Given the description of an element on the screen output the (x, y) to click on. 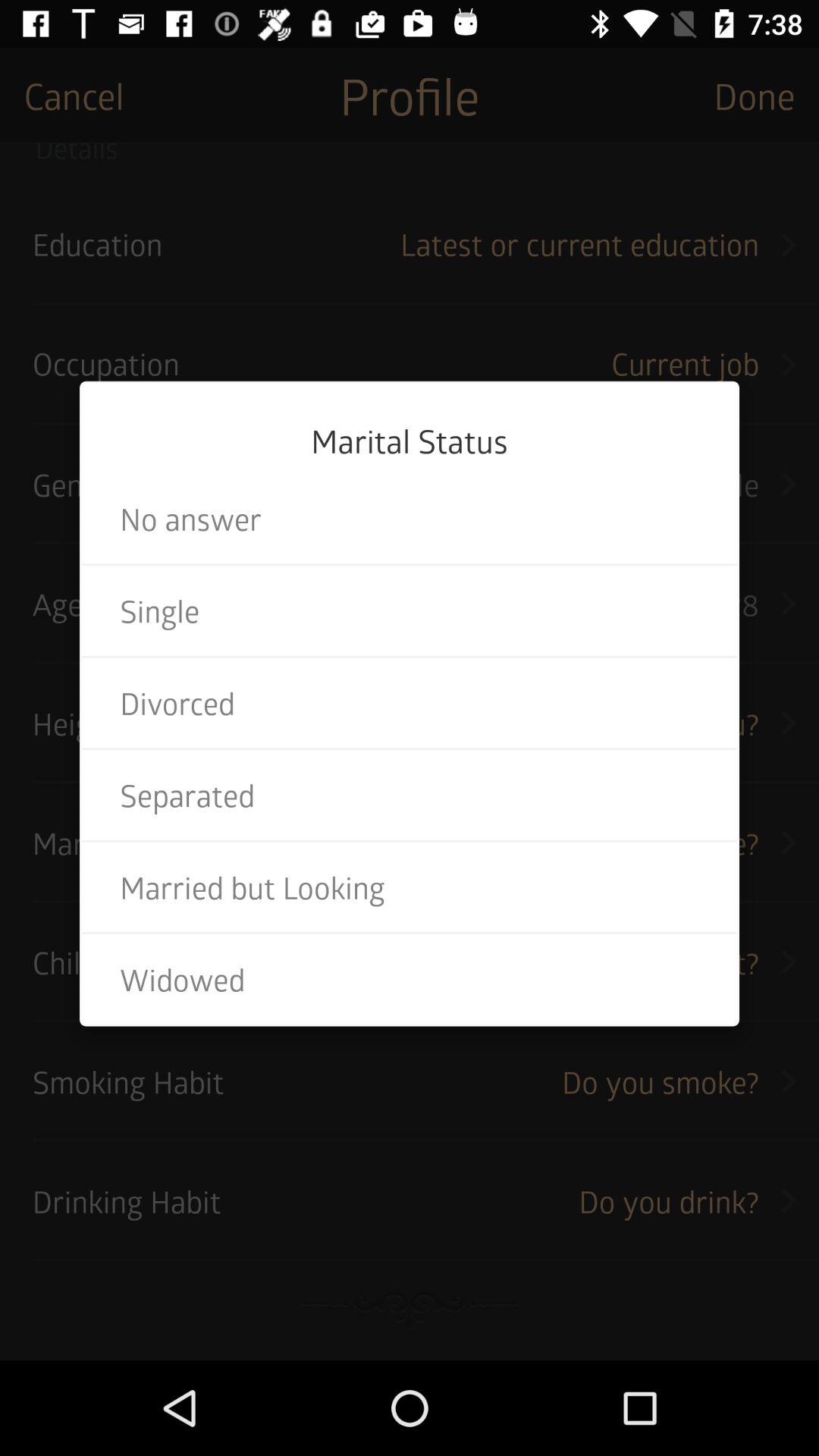
press the item below the divorced item (409, 795)
